Given the description of an element on the screen output the (x, y) to click on. 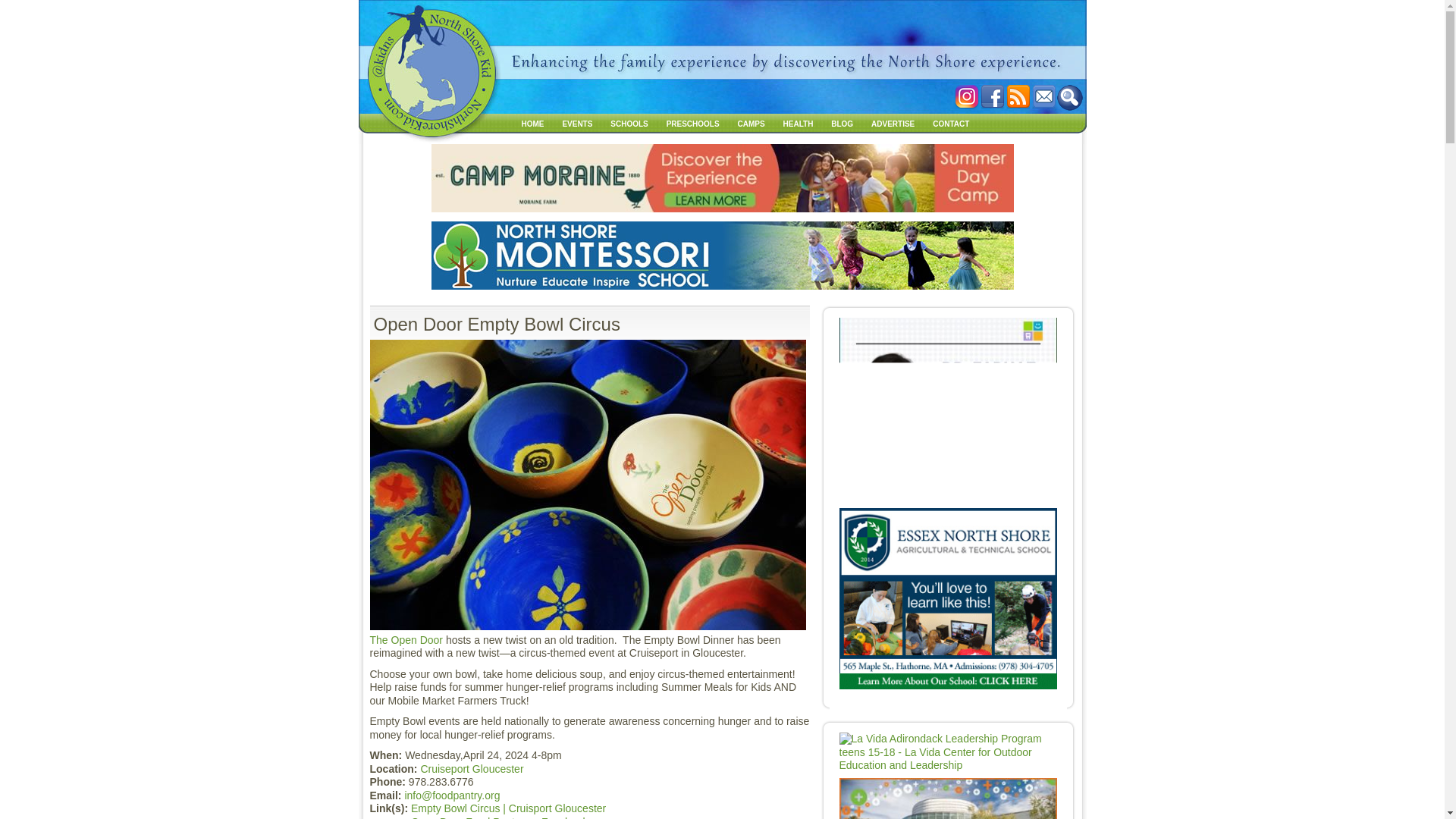
CONTACT (951, 123)
BLOG (842, 123)
Search North Shore Kid (1070, 97)
PRESCHOOLS (692, 123)
Advertise (892, 123)
SCHOOLS (628, 123)
HOME (532, 123)
